Given the description of an element on the screen output the (x, y) to click on. 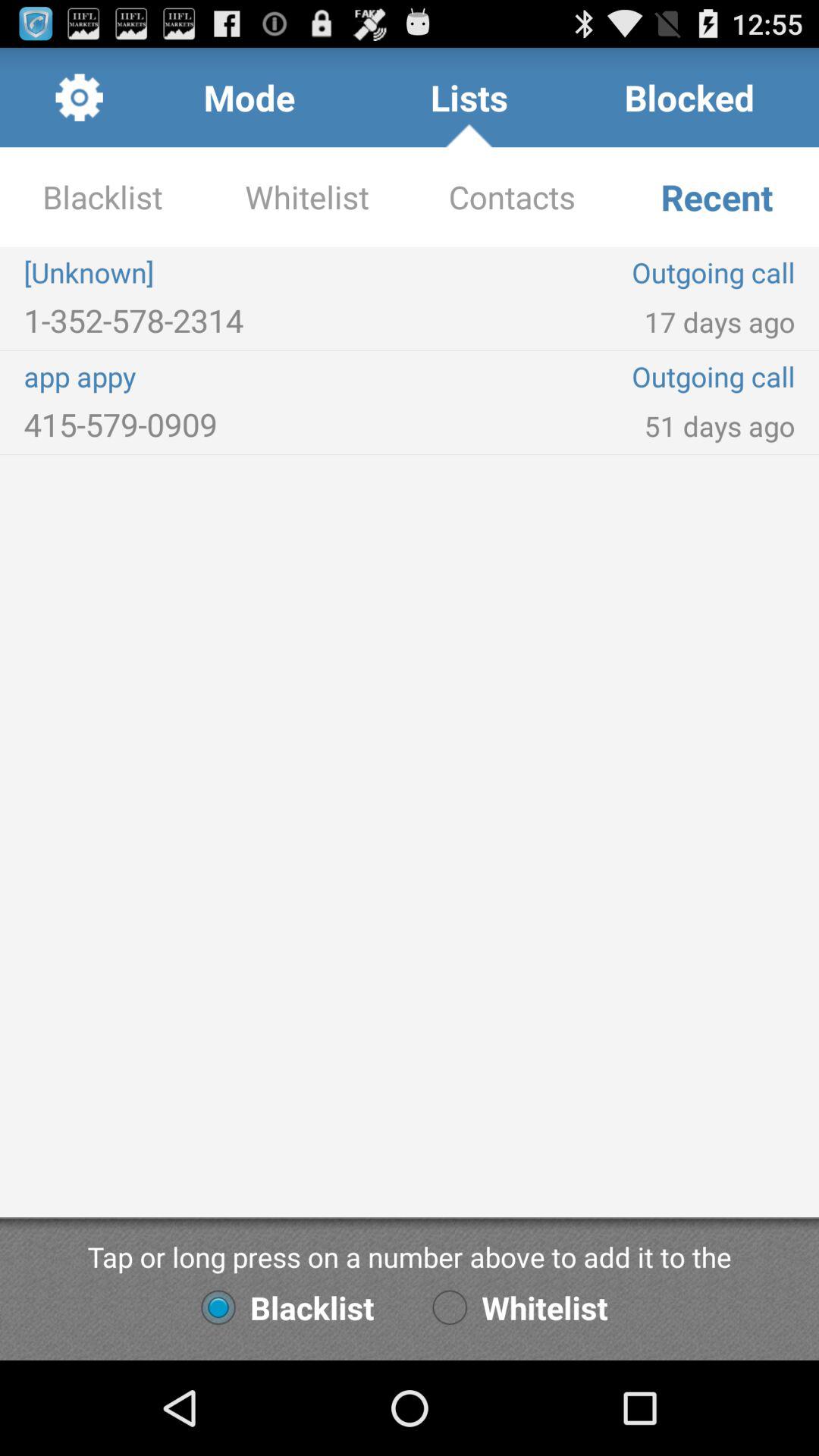
scroll to recent icon (716, 196)
